Given the description of an element on the screen output the (x, y) to click on. 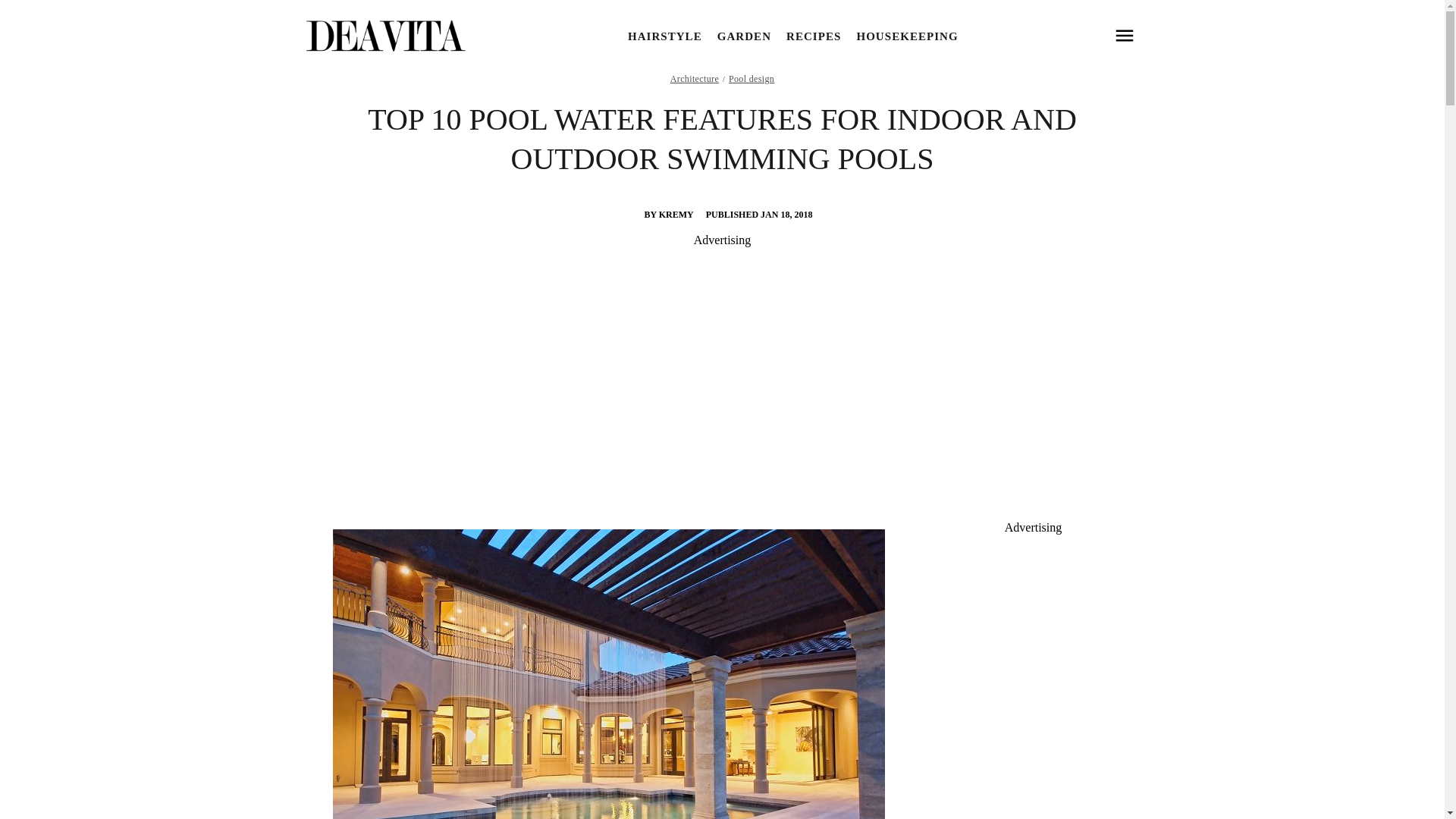
Deavita (383, 36)
HOUSEKEEPING (907, 36)
open menu (1124, 36)
GARDEN (744, 36)
HAIRSTYLE (664, 36)
RECIPES (813, 36)
